Given the description of an element on the screen output the (x, y) to click on. 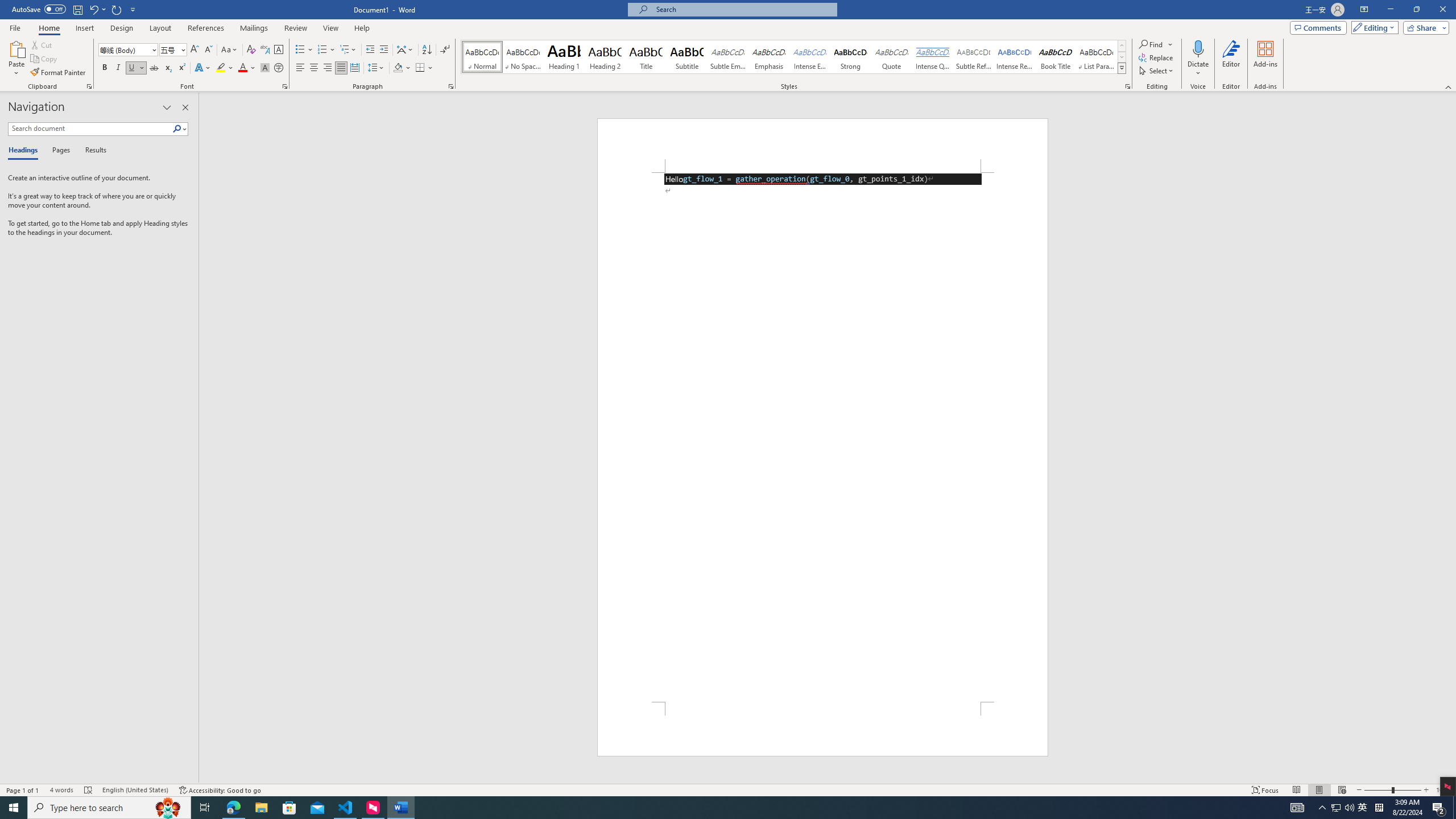
Heading 2 (605, 56)
Subtitle (686, 56)
